Given the description of an element on the screen output the (x, y) to click on. 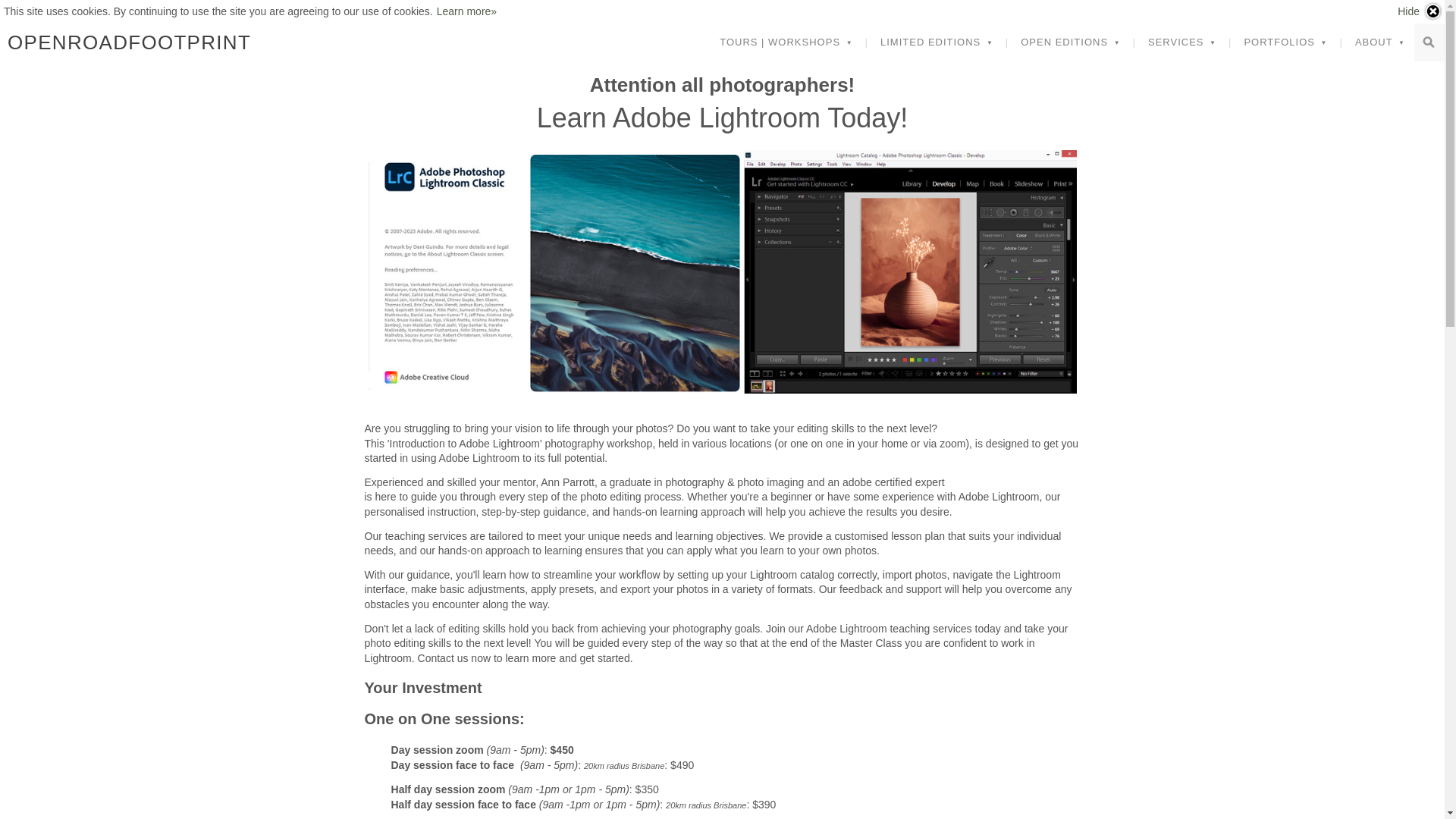
Hide (1419, 11)
OPENROADFOOTPRINT (129, 42)
OpenroadFootprint (129, 42)
